Given the description of an element on the screen output the (x, y) to click on. 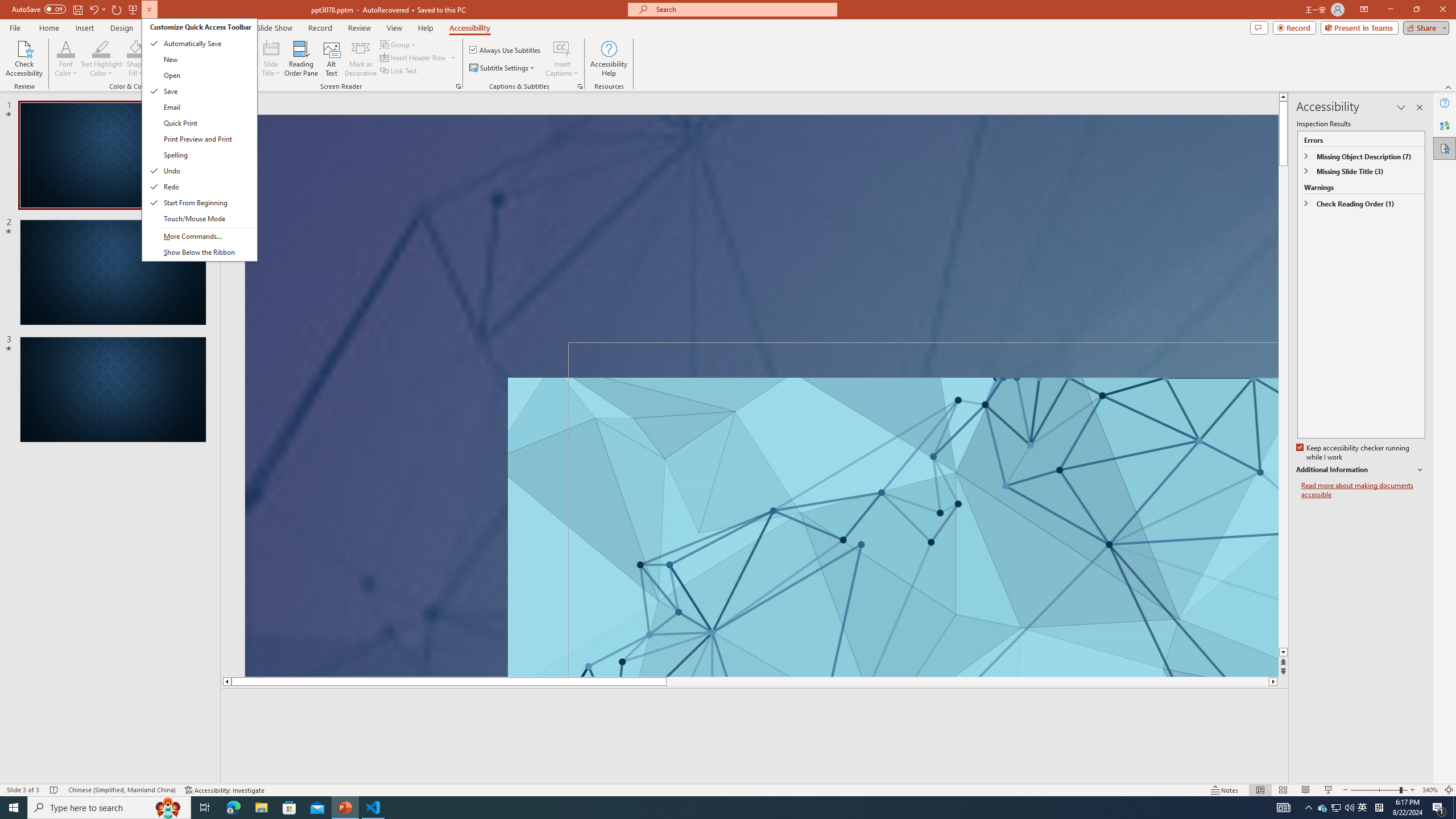
Captions & Subtitles (580, 85)
Screen Reader (458, 85)
